Given the description of an element on the screen output the (x, y) to click on. 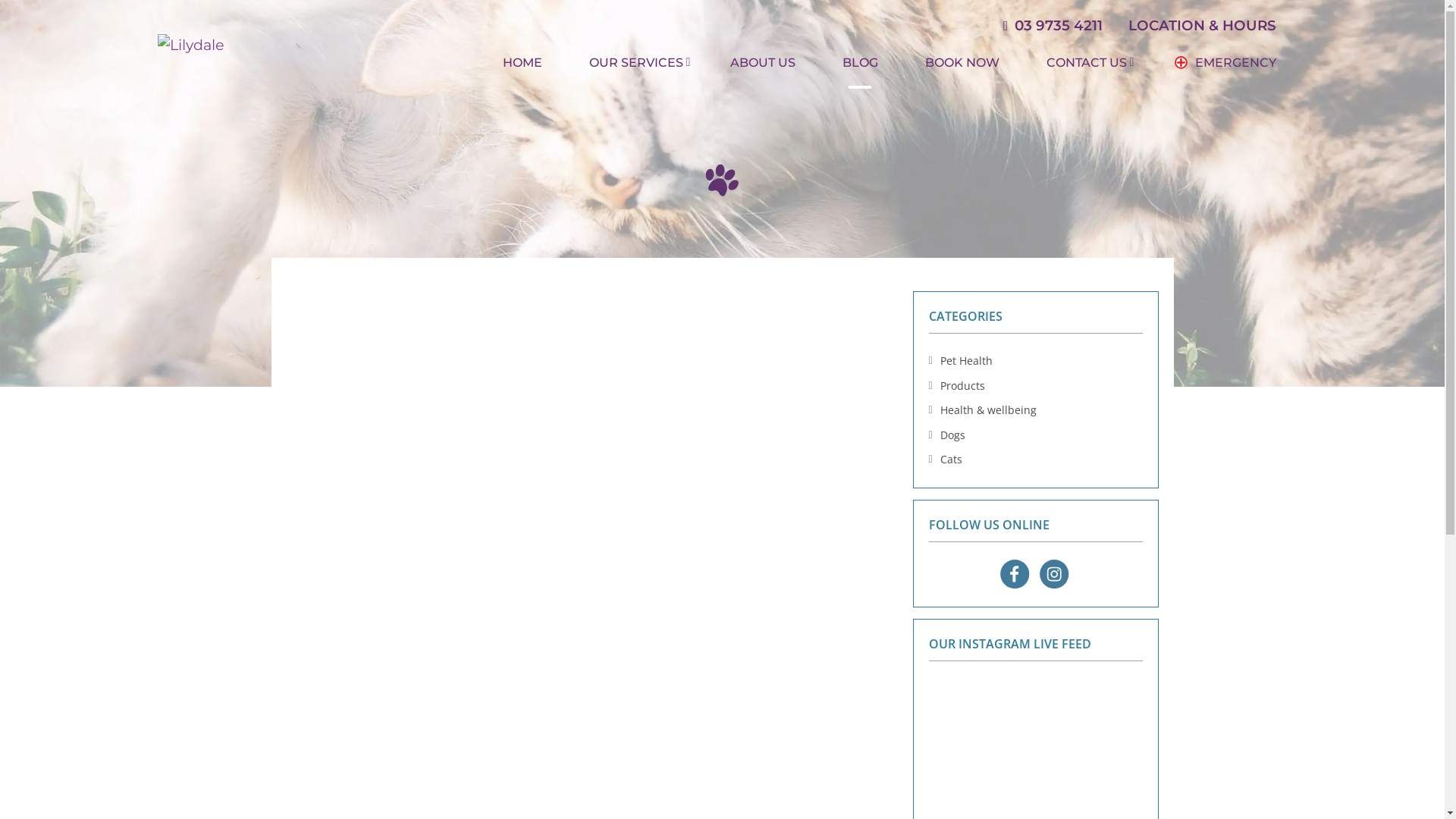
03 9735 4211 Element type: text (1052, 25)
BLOG Element type: text (860, 62)
Products Element type: text (962, 385)
Health & wellbeing Element type: text (988, 409)
BOOK NOW Element type: text (961, 62)
LOCATION & HOURS Element type: text (1202, 25)
Dogs Element type: text (952, 434)
OUR SERVICES Element type: text (635, 62)
HOME Element type: text (522, 62)
EMERGENCY Element type: text (1223, 62)
CONTACT US Element type: text (1085, 62)
Cats Element type: text (951, 458)
ABOUT US Element type: text (762, 62)
Pet Health Element type: text (966, 360)
